Given the description of an element on the screen output the (x, y) to click on. 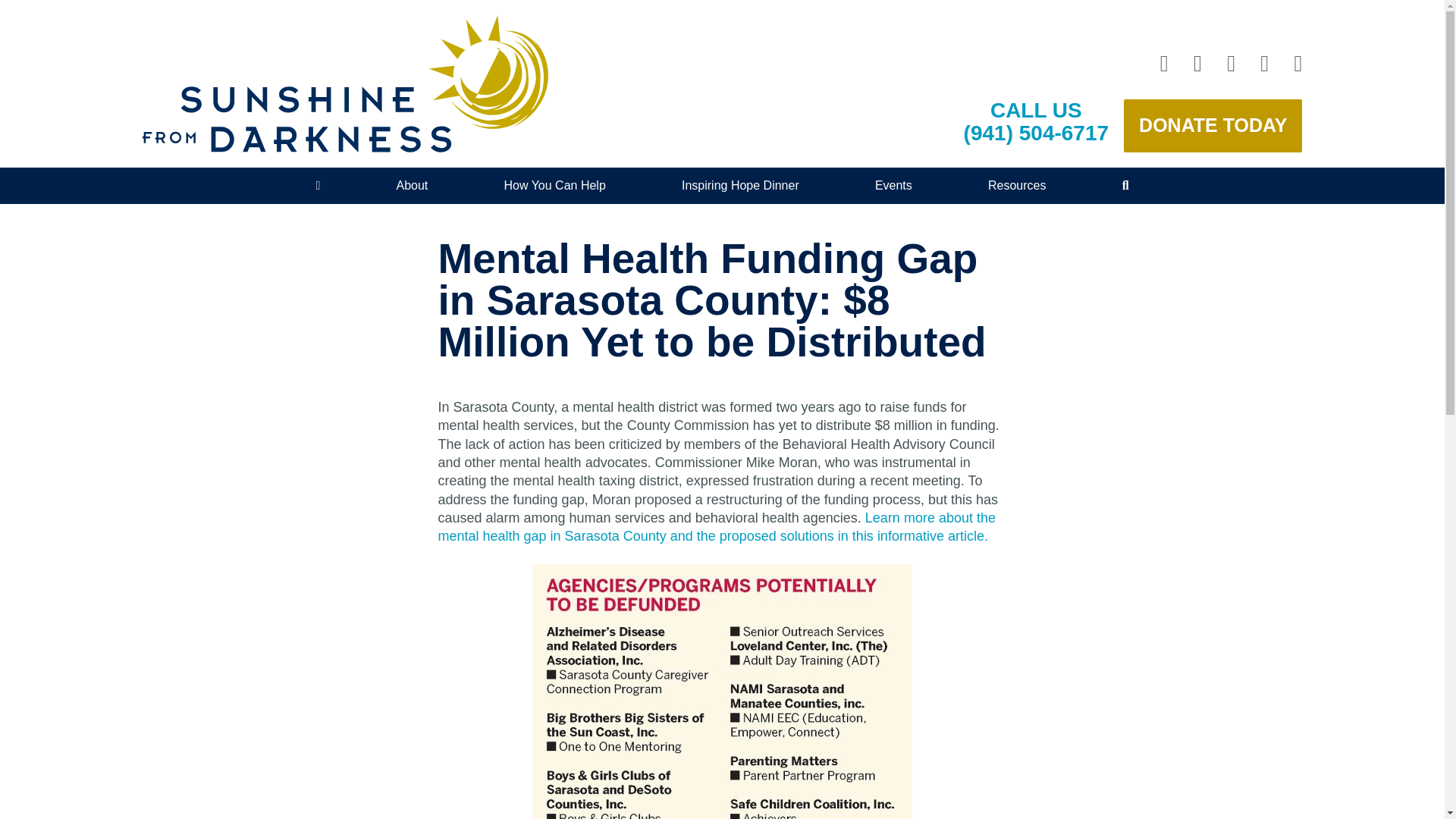
instagram (1190, 63)
Inspiring Hope Dinner (969, 217)
Permalink to Sunshine from Darkness home page (345, 83)
Who We Are (490, 217)
youtube (1290, 63)
twitter (1257, 63)
Inspiring Hope Dinner (740, 185)
How You Can Help (554, 185)
